Given the description of an element on the screen output the (x, y) to click on. 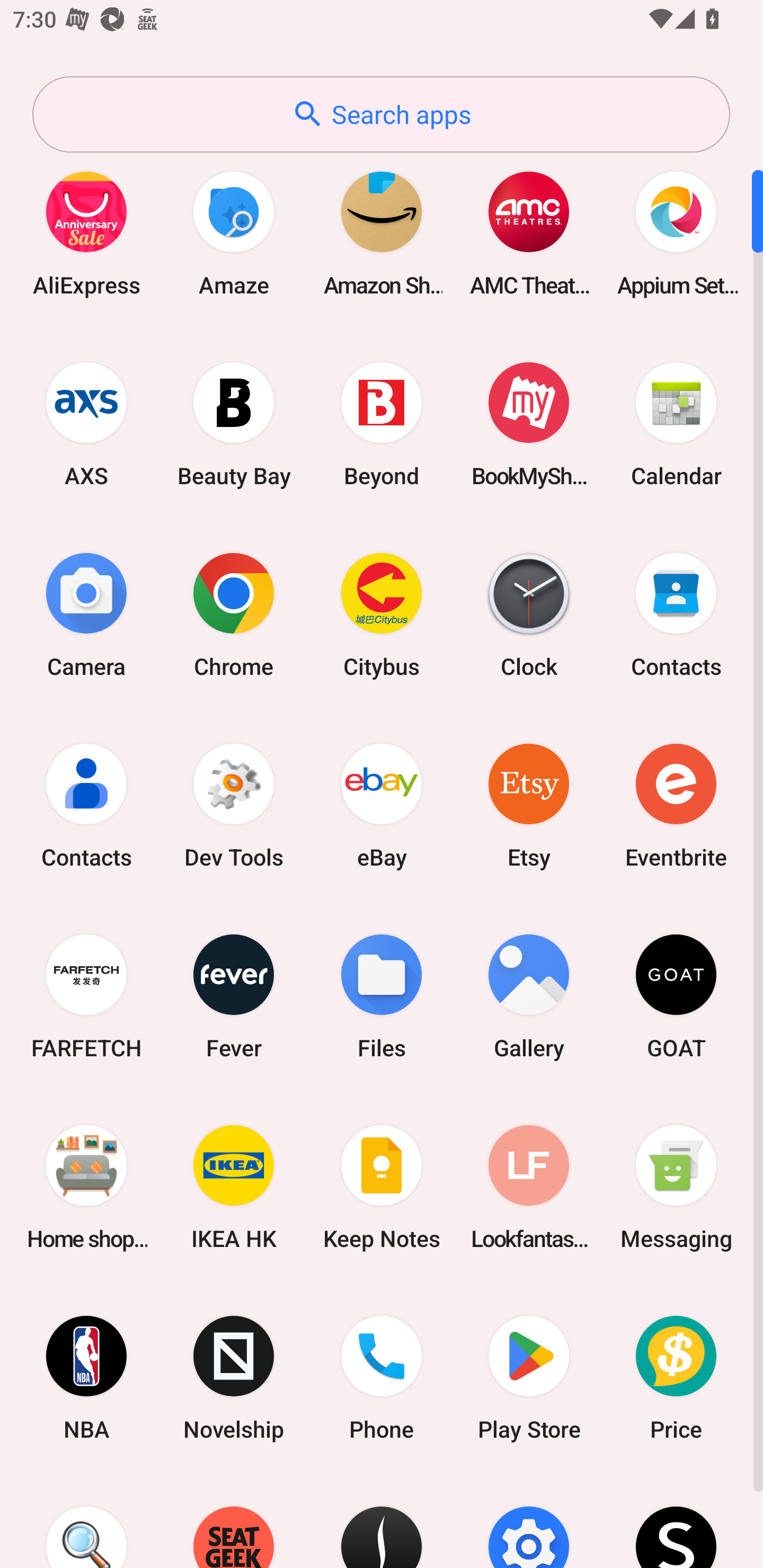
  Search apps (381, 114)
AliExpress (86, 233)
Amaze (233, 233)
Amazon Shopping (381, 233)
AMC Theatres (528, 233)
Appium Settings (676, 233)
AXS (86, 424)
Beauty Bay (233, 424)
Beyond (381, 424)
BookMyShow (528, 424)
Calendar (676, 424)
Camera (86, 614)
Chrome (233, 614)
Citybus (381, 614)
Clock (528, 614)
Contacts (676, 614)
Contacts (86, 805)
Dev Tools (233, 805)
eBay (381, 805)
Etsy (528, 805)
Eventbrite (676, 805)
FARFETCH (86, 996)
Fever (233, 996)
Files (381, 996)
Gallery (528, 996)
GOAT (676, 996)
Home shopping (86, 1186)
IKEA HK (233, 1186)
Keep Notes (381, 1186)
Lookfantastic (528, 1186)
Messaging (676, 1186)
NBA (86, 1377)
Novelship (233, 1377)
Phone (381, 1377)
Play Store (528, 1377)
Price (676, 1377)
